Given the description of an element on the screen output the (x, y) to click on. 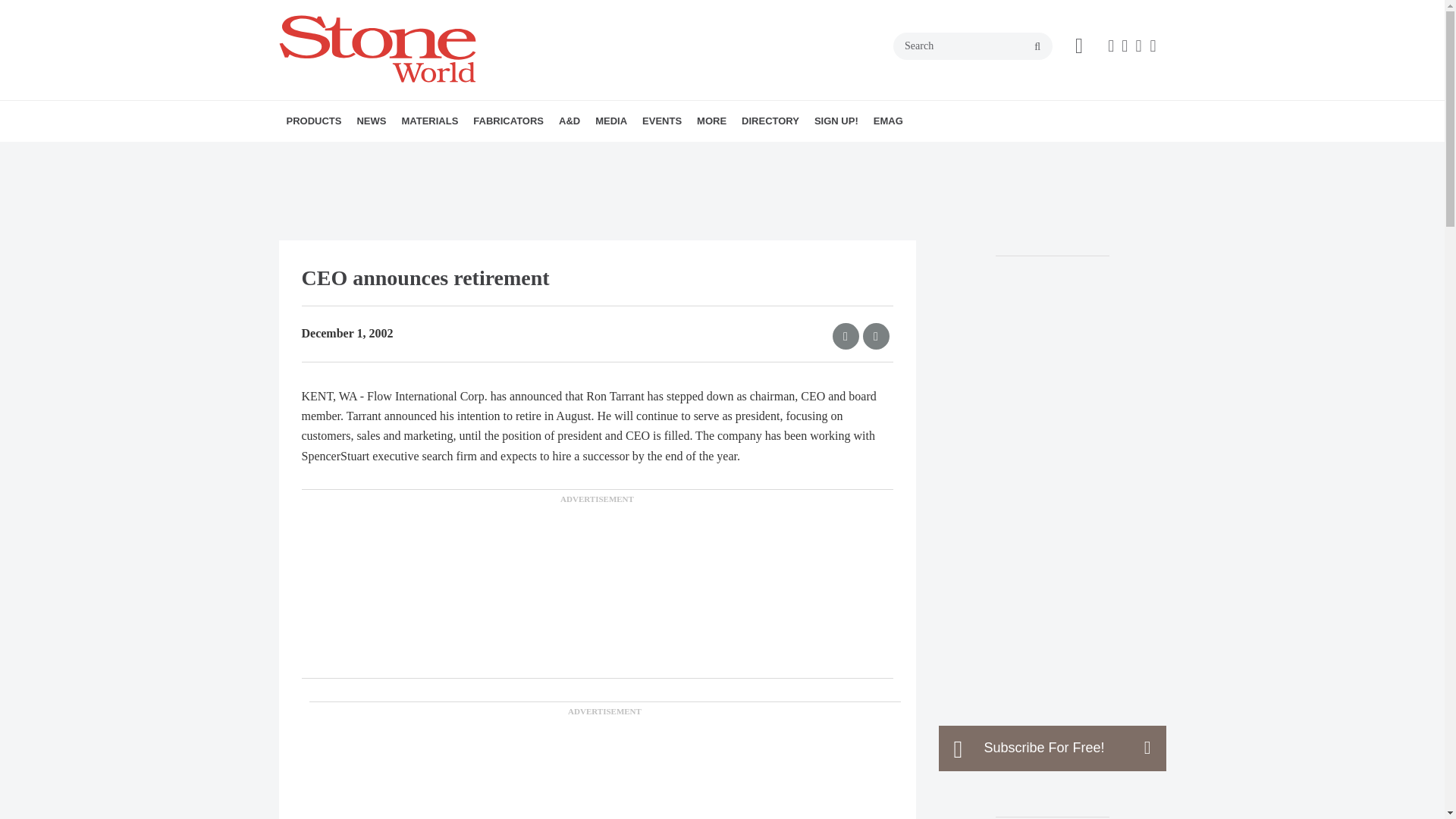
MEDIA (611, 120)
OUTDOOR DESIGN (653, 154)
PRODUCTS (314, 120)
EBOOK (695, 154)
VIDEOS (682, 154)
Search (972, 45)
ALTERNATIVE SURFACES (488, 154)
TILE (501, 154)
INTERIOR DESIGN (659, 154)
DIGITAL TECHNOLOGY (380, 154)
facebook (1110, 45)
Search (972, 45)
FABRICATORS (508, 120)
youtube (1153, 45)
RESIDENTIAL (679, 154)
